Given the description of an element on the screen output the (x, y) to click on. 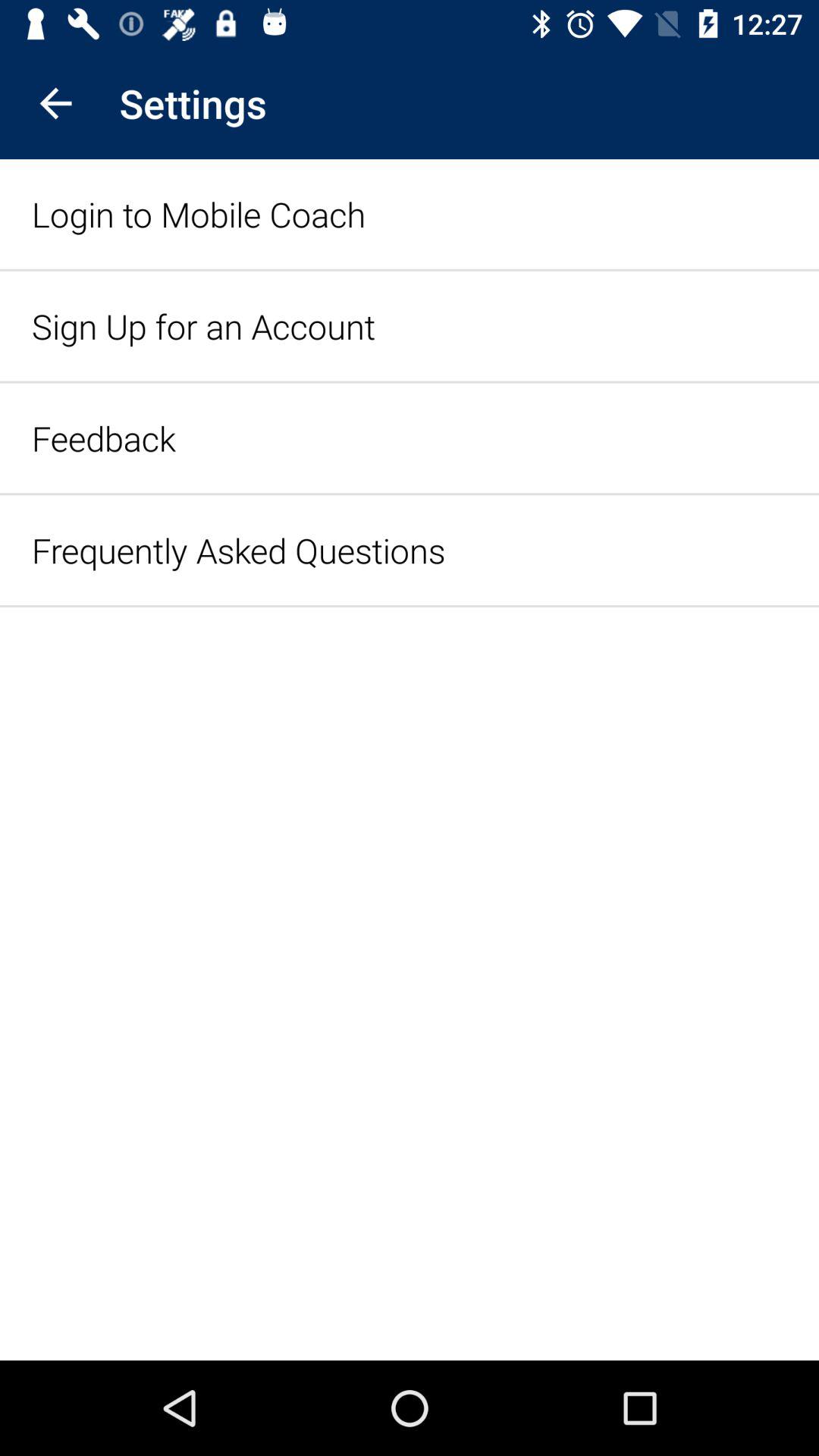
click item to the left of settings icon (55, 103)
